Given the description of an element on the screen output the (x, y) to click on. 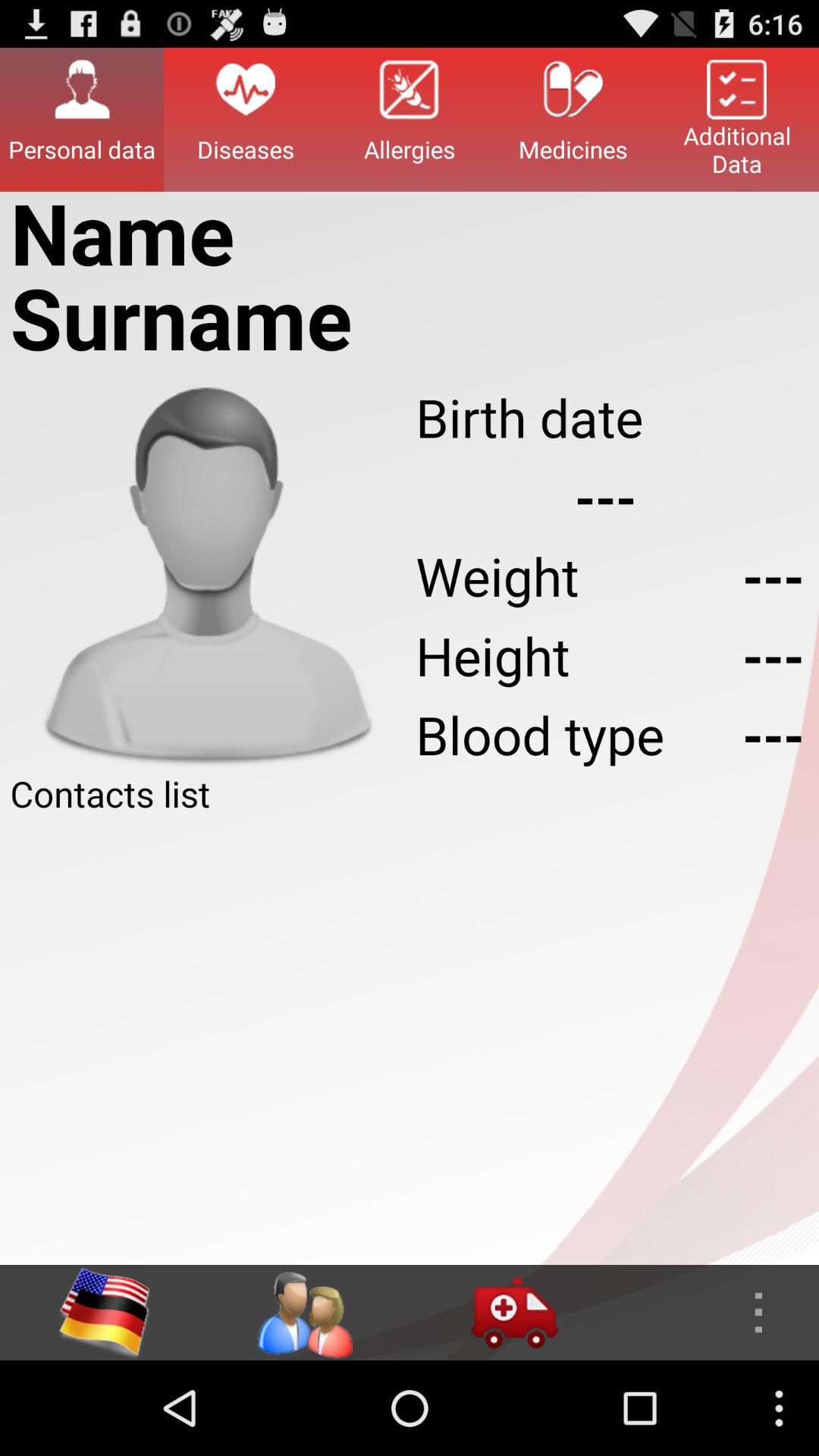
click item to the left of allergies button (245, 119)
